Given the description of an element on the screen output the (x, y) to click on. 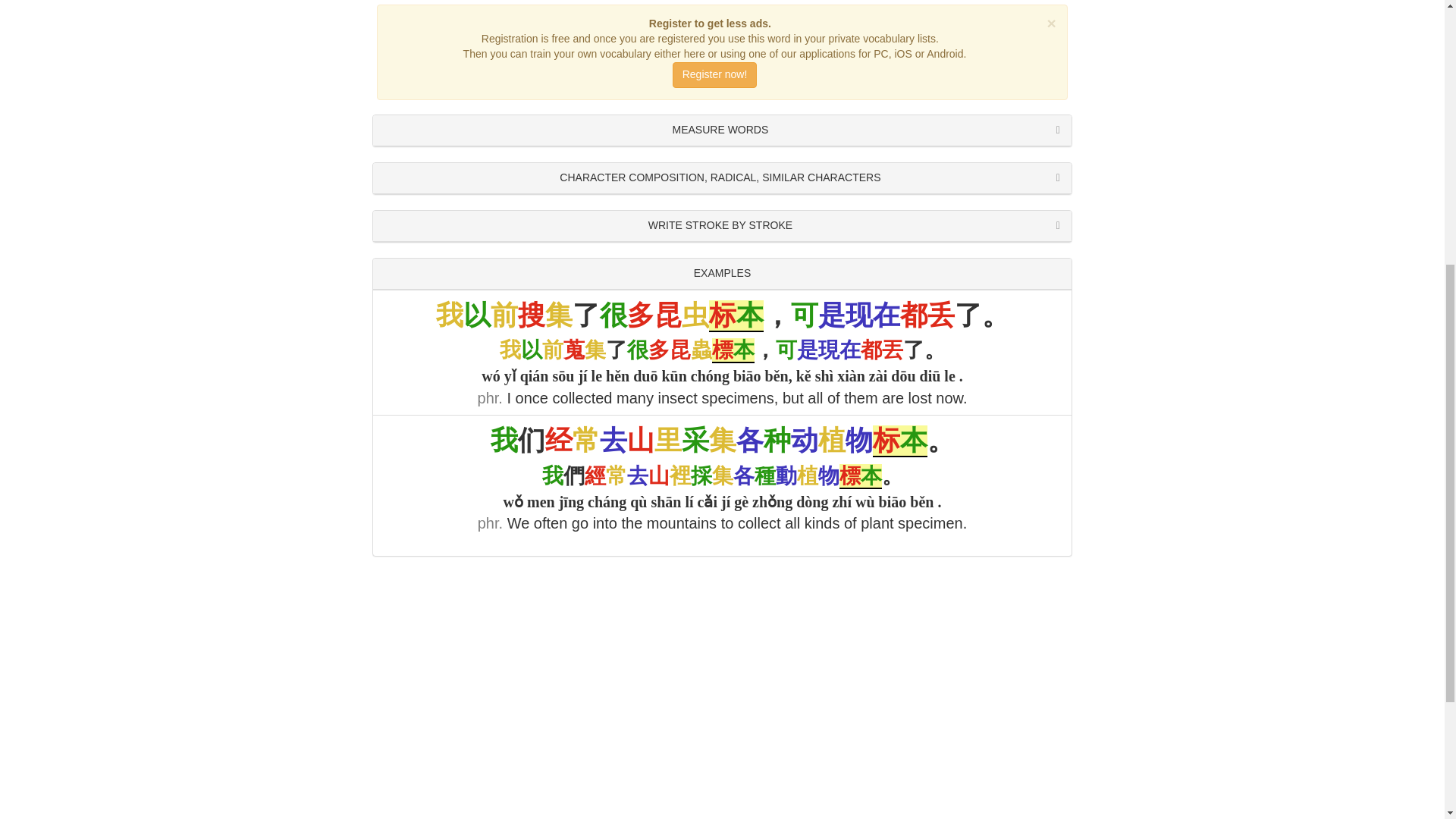
Register now! (714, 74)
